Given the description of an element on the screen output the (x, y) to click on. 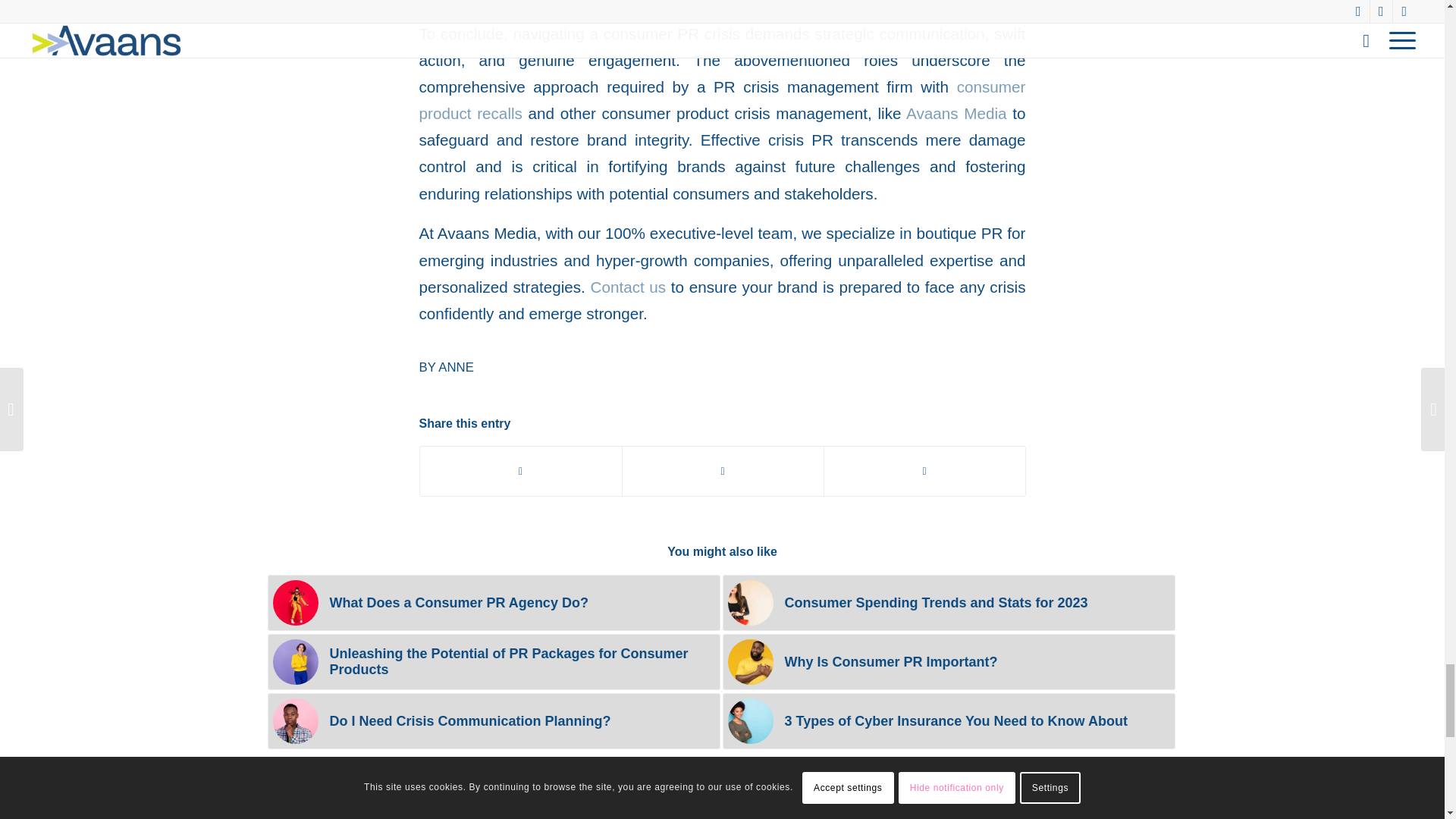
ANNE (456, 367)
consumer product recalls (722, 99)
Consumer Spending Trends and Stats for 2023 (948, 602)
Contact us (627, 286)
What Does a Consumer PR Agency Do? (492, 602)
Why Is Consumer PR Important? (948, 661)
Consumer Spending Trends and Stats for 2023 (948, 602)
Posts by Anne (456, 367)
Why Is Consumer PR Important? (948, 661)
Avaans Media (956, 113)
What Does a Consumer PR Agency Do? (492, 602)
